Given the description of an element on the screen output the (x, y) to click on. 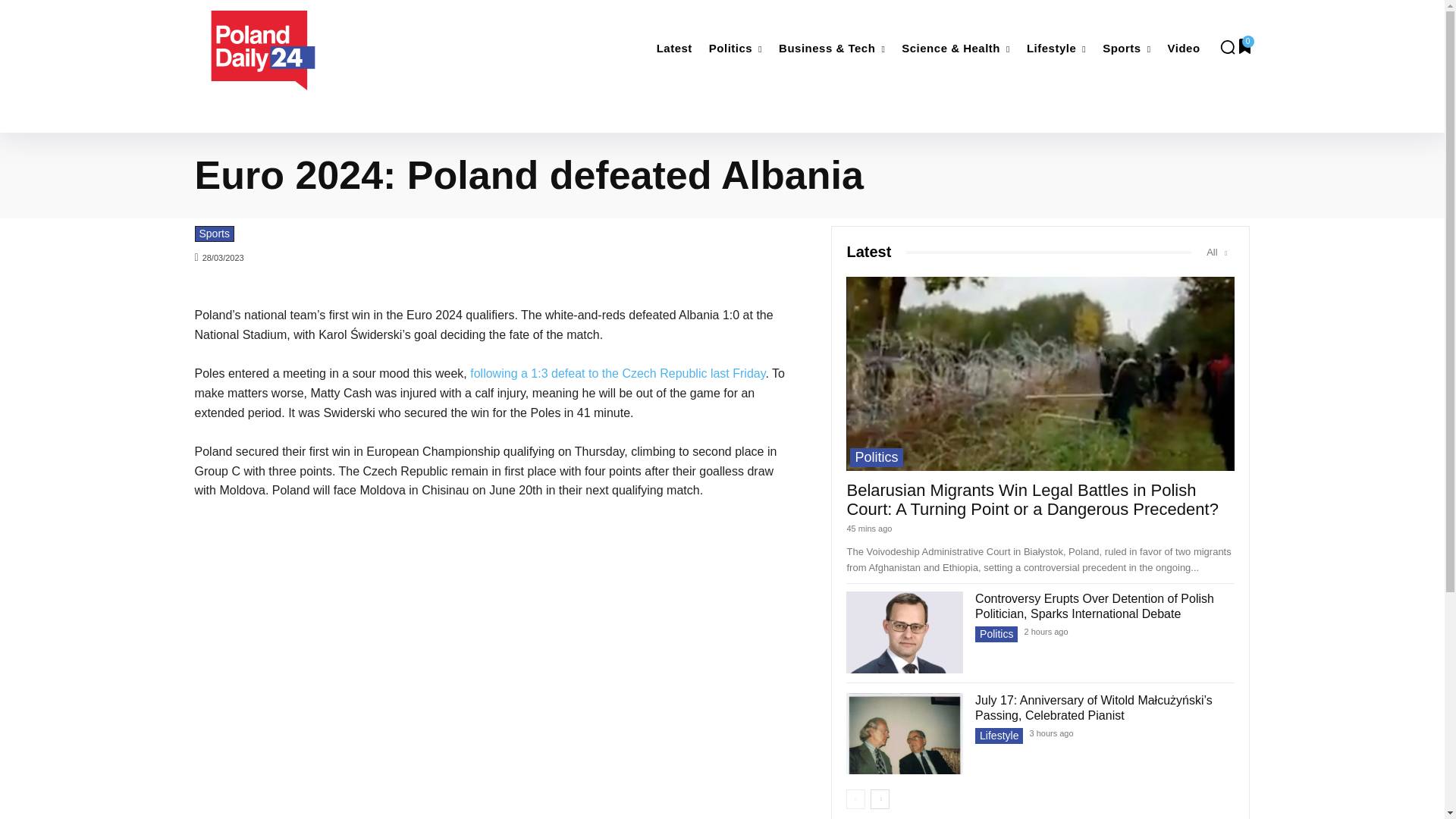
Politics (735, 48)
